Given the description of an element on the screen output the (x, y) to click on. 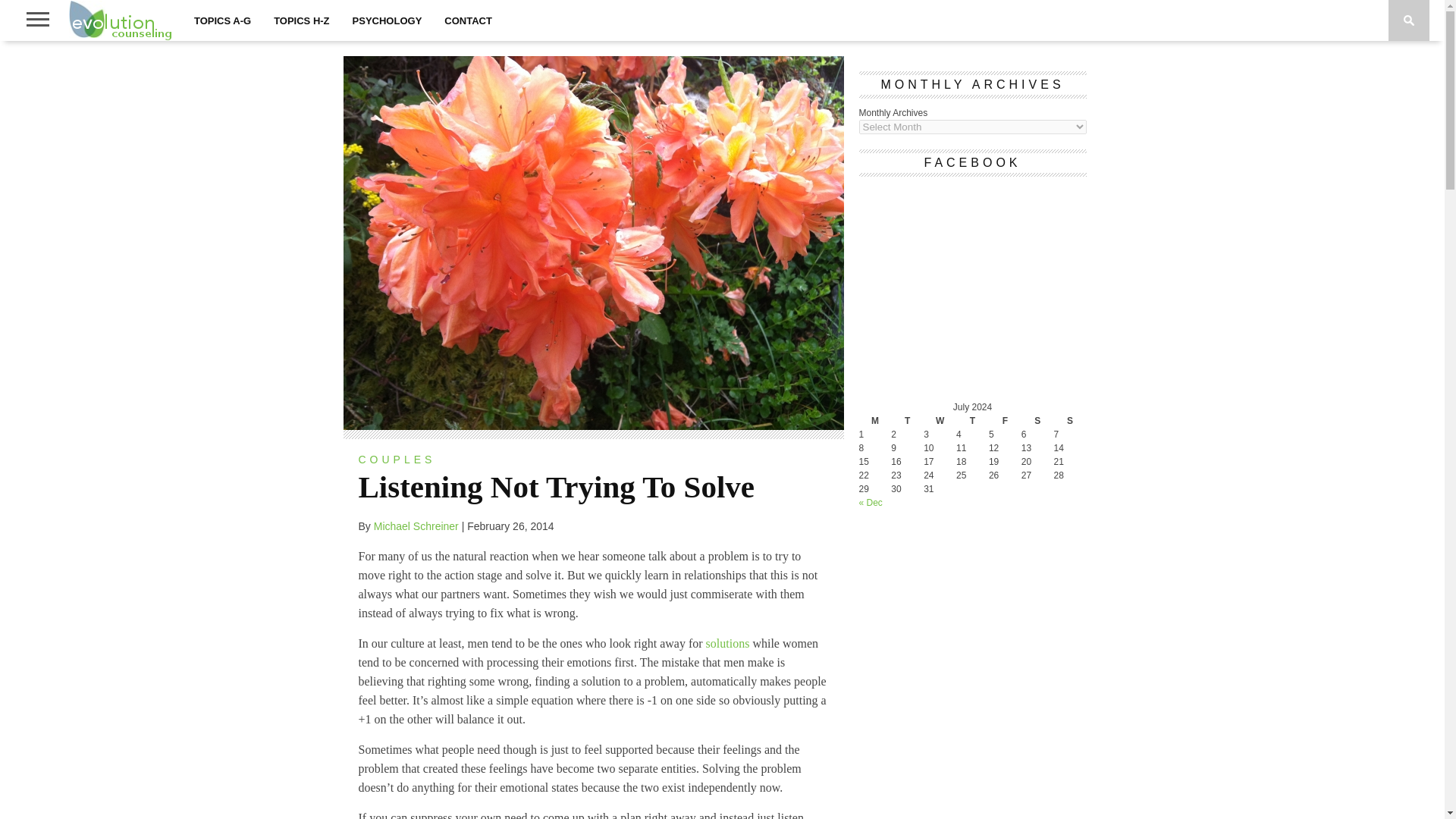
TOPICS A-G (222, 20)
Posts by Michael Schreiner (416, 526)
